Given the description of an element on the screen output the (x, y) to click on. 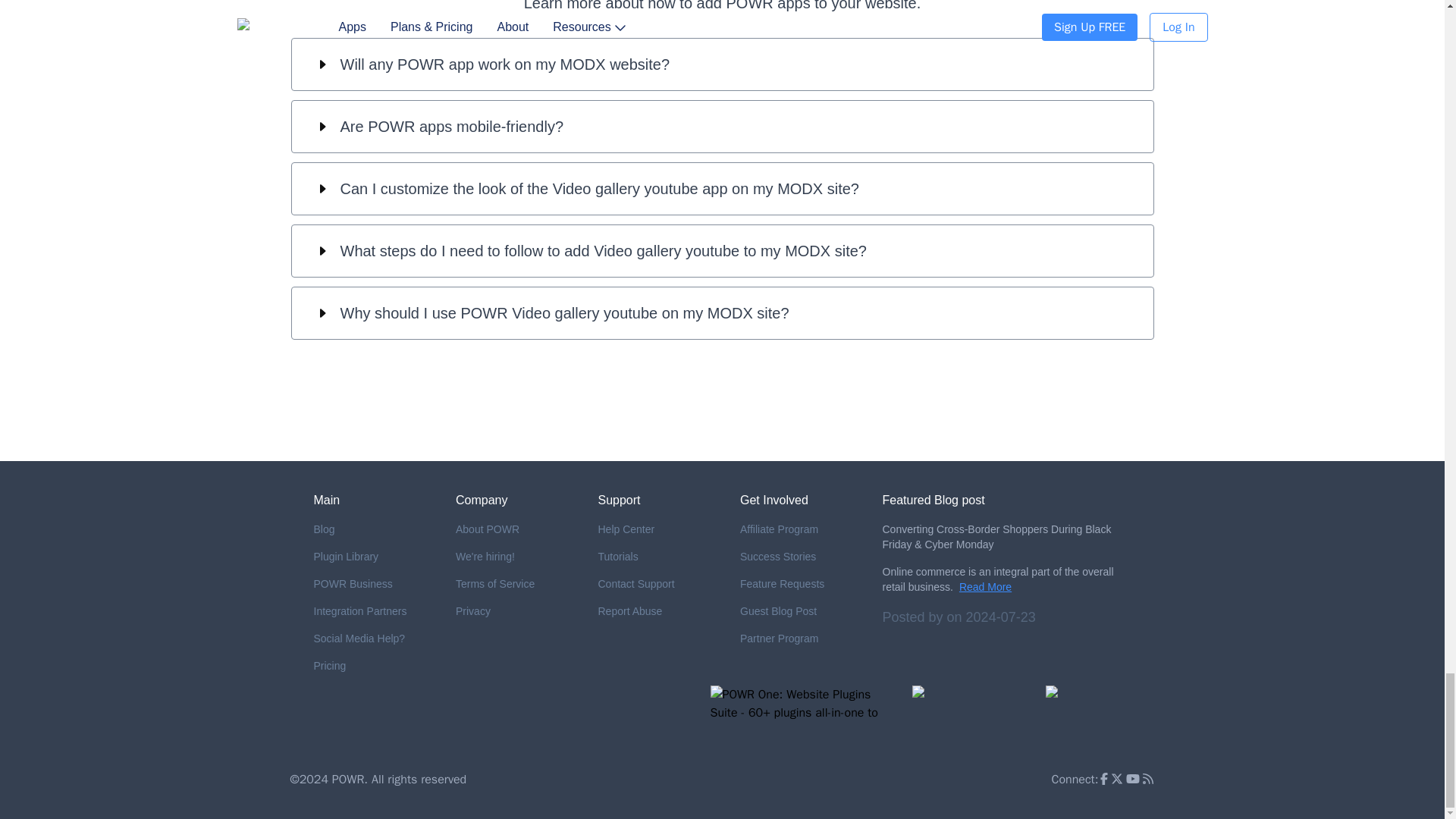
Will any POWR app work on my MODX website? (722, 64)
Blog (373, 529)
Are POWR apps mobile-friendly? (722, 126)
Read reviews of POWR on G2 (971, 715)
Why should I use POWR Video gallery youtube on my MODX site? (722, 313)
